Given the description of an element on the screen output the (x, y) to click on. 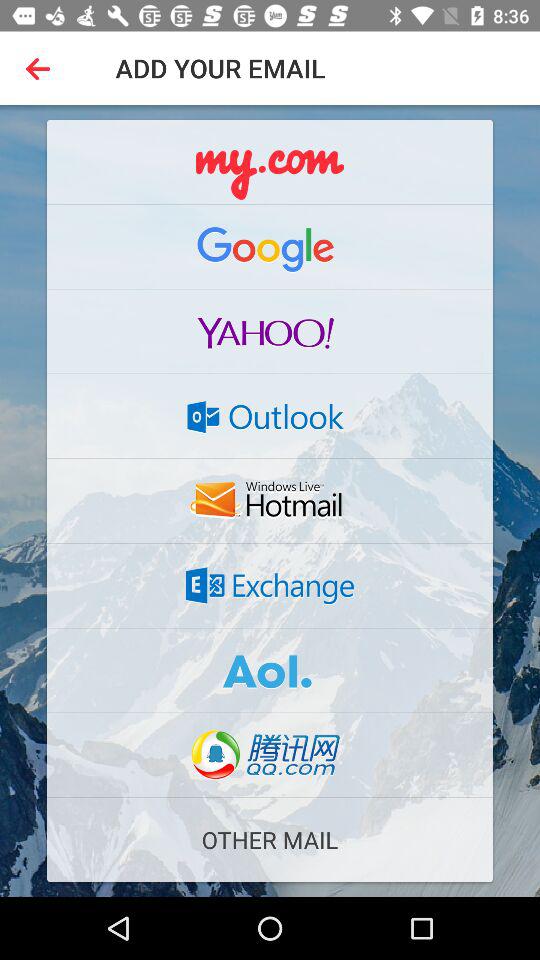
email option (269, 670)
